Given the description of an element on the screen output the (x, y) to click on. 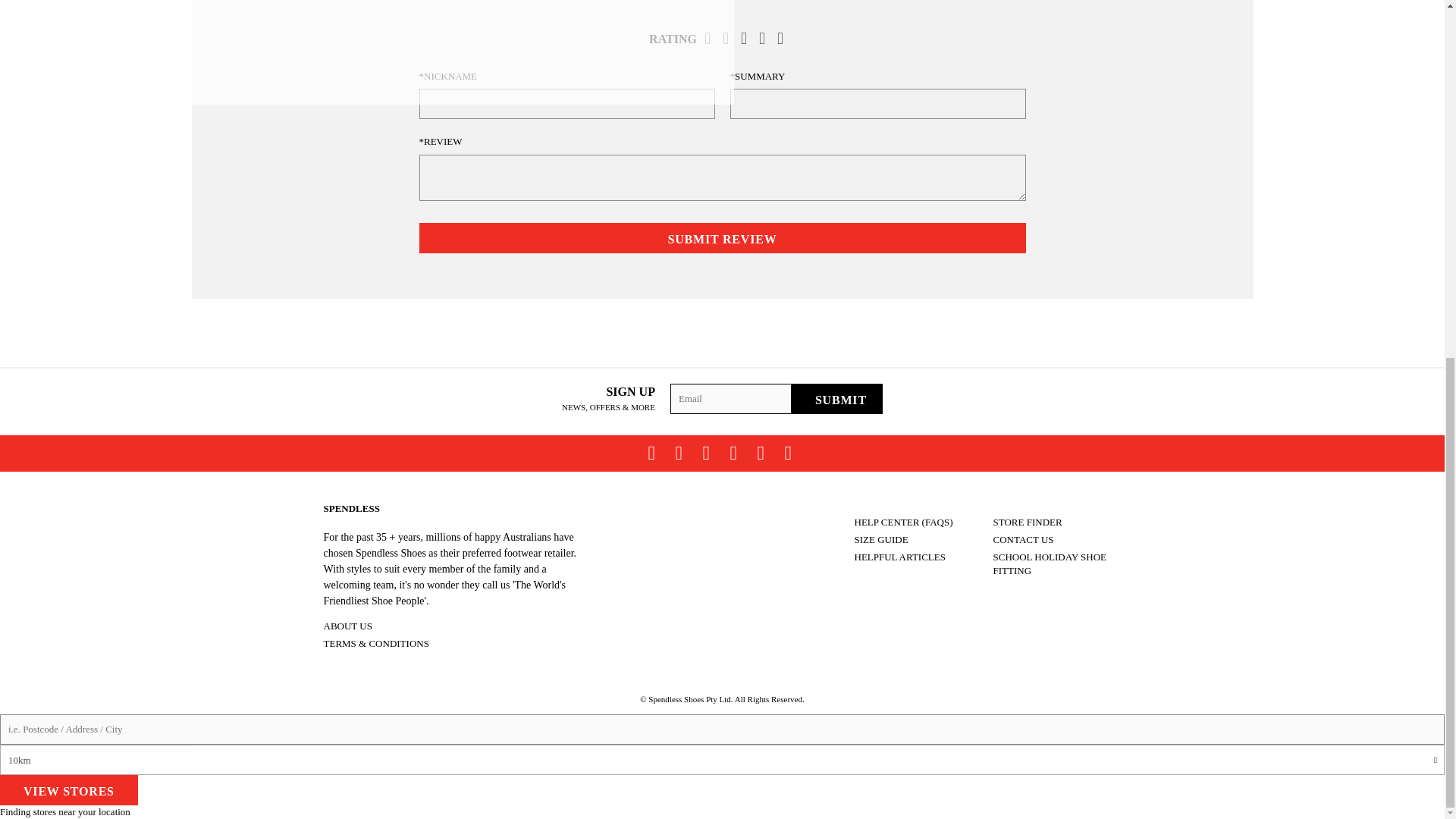
1 star (713, 36)
3 stars (749, 36)
2 stars (731, 36)
4 stars (767, 36)
Submit (837, 399)
5 stars (785, 36)
